Given the description of an element on the screen output the (x, y) to click on. 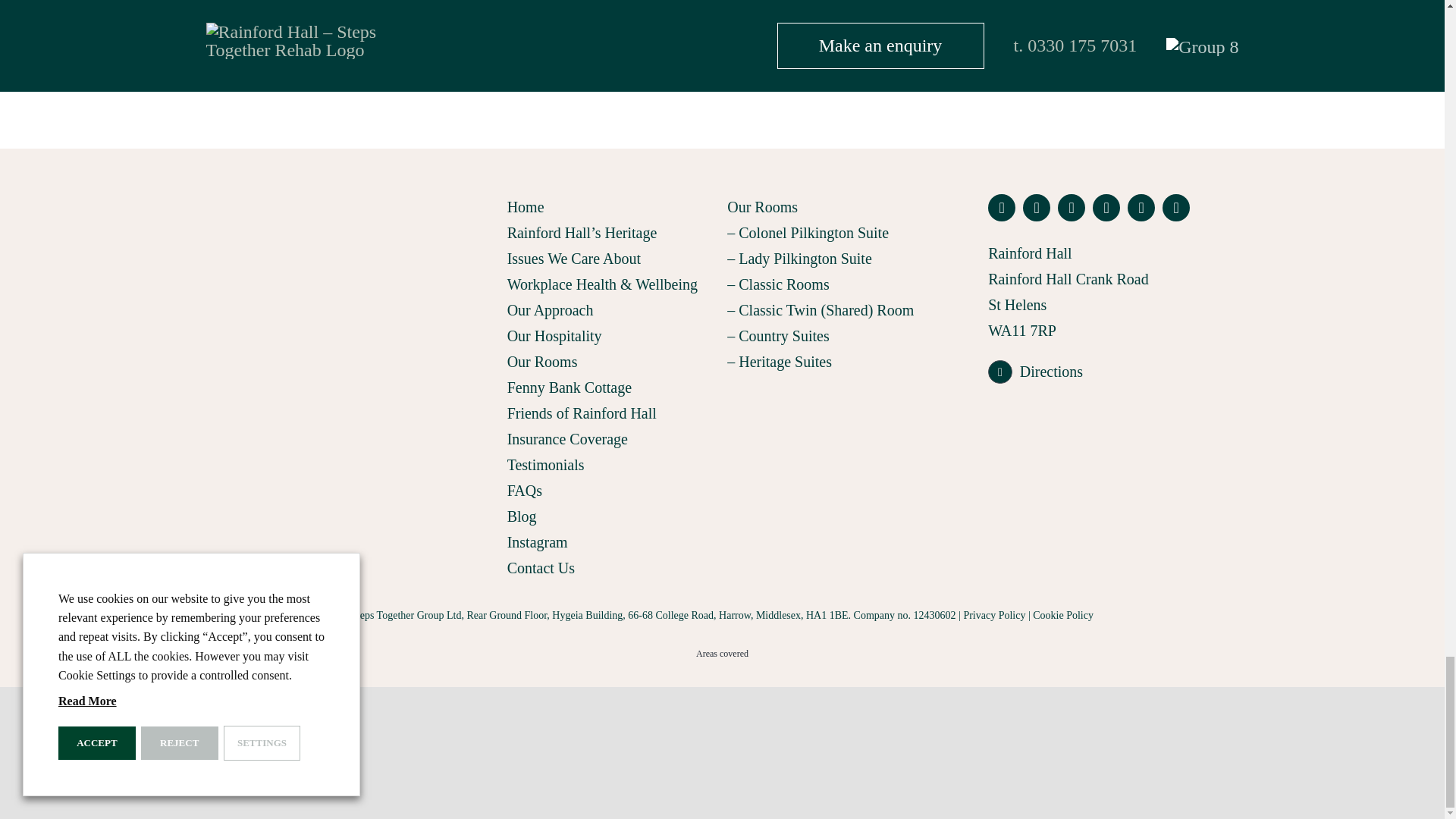
Issues We Care About (611, 258)
Our Hospitality (611, 335)
Home (611, 207)
LOAD MORE POSTS (722, 6)
cqc (1101, 468)
Fenny Bank Cottage (611, 387)
Insurance Coverage (611, 438)
Our Rooms (611, 361)
Blog (611, 516)
Testimonials (611, 464)
Our Approach (611, 309)
Instagram (611, 542)
Contact Us (611, 567)
Friends of Rainford Hall (611, 412)
FAQs (611, 490)
